Given the description of an element on the screen output the (x, y) to click on. 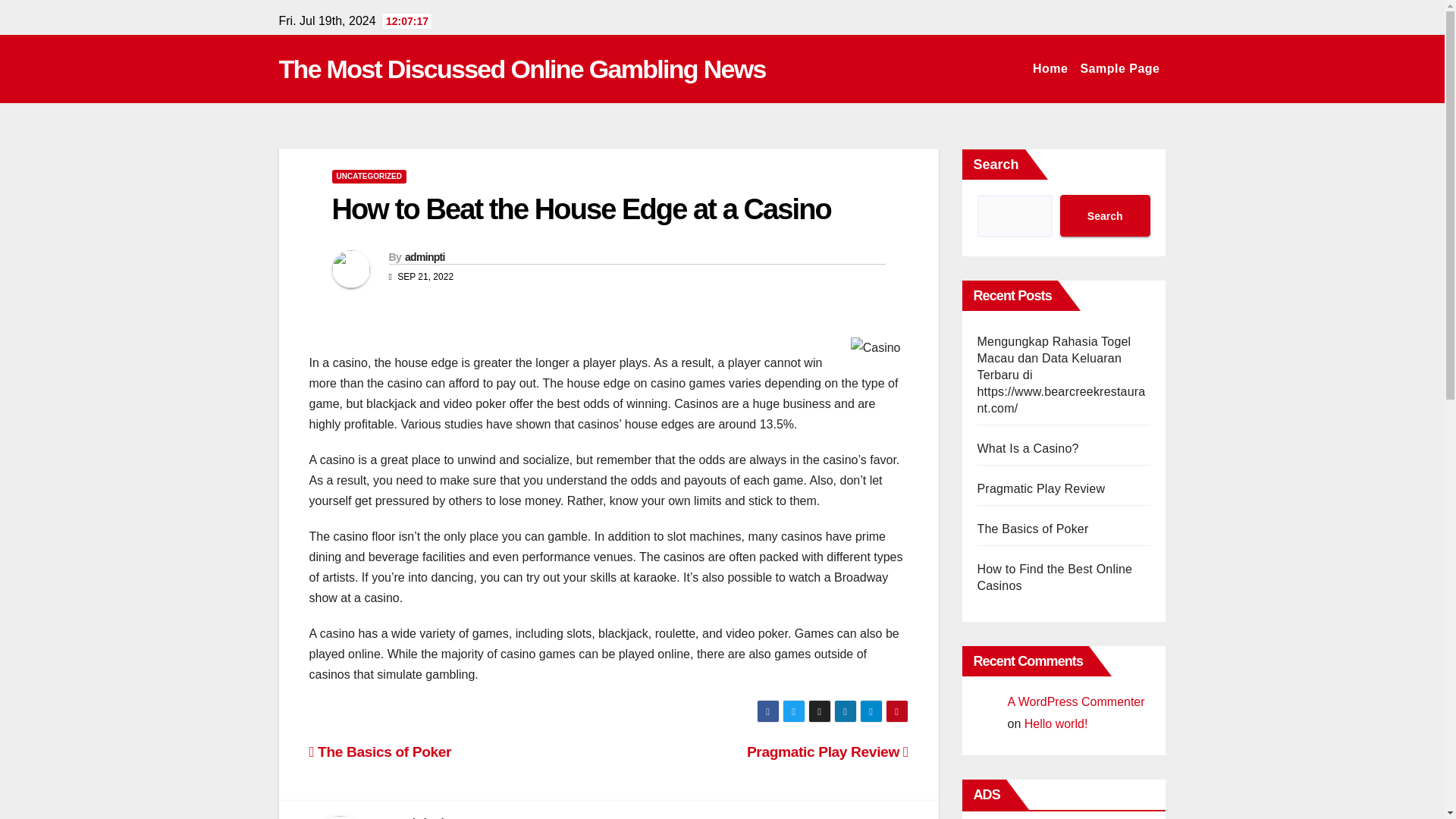
Home (1050, 69)
Home (1050, 69)
The Basics of Poker (1031, 528)
The Basics of Poker (379, 751)
adminpti (423, 817)
The Most Discussed Online Gambling News (522, 68)
What Is a Casino? (1027, 448)
Pragmatic Play Review (827, 751)
UNCATEGORIZED (368, 176)
A WordPress Commenter (1075, 701)
adminpti (424, 256)
Pragmatic Play Review (1040, 488)
Permalink to: How to Beat the House Edge at a Casino (581, 209)
Hello world! (1056, 723)
Search (1104, 215)
